Given the description of an element on the screen output the (x, y) to click on. 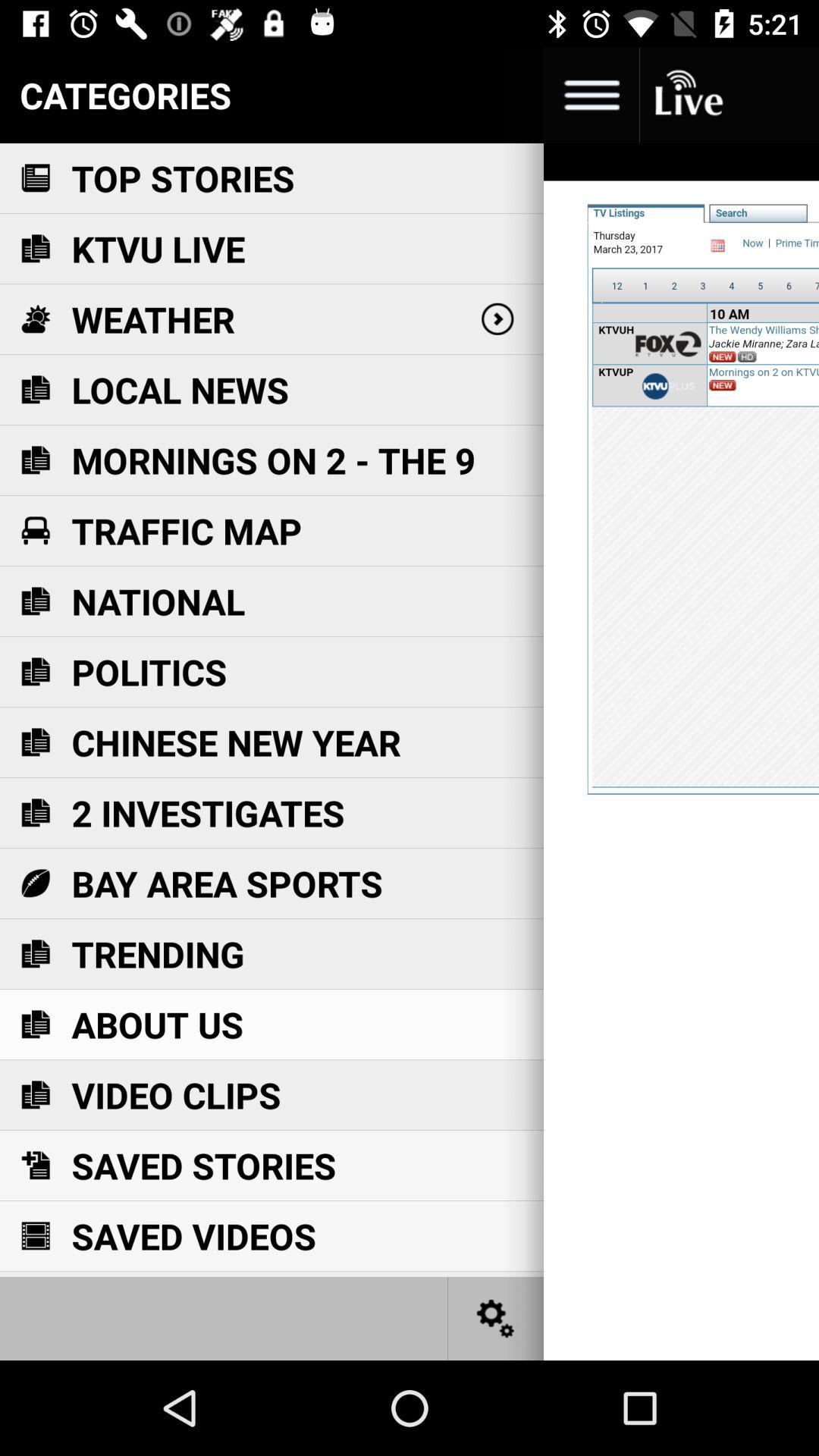
hide/show sidebar (591, 95)
